Given the description of an element on the screen output the (x, y) to click on. 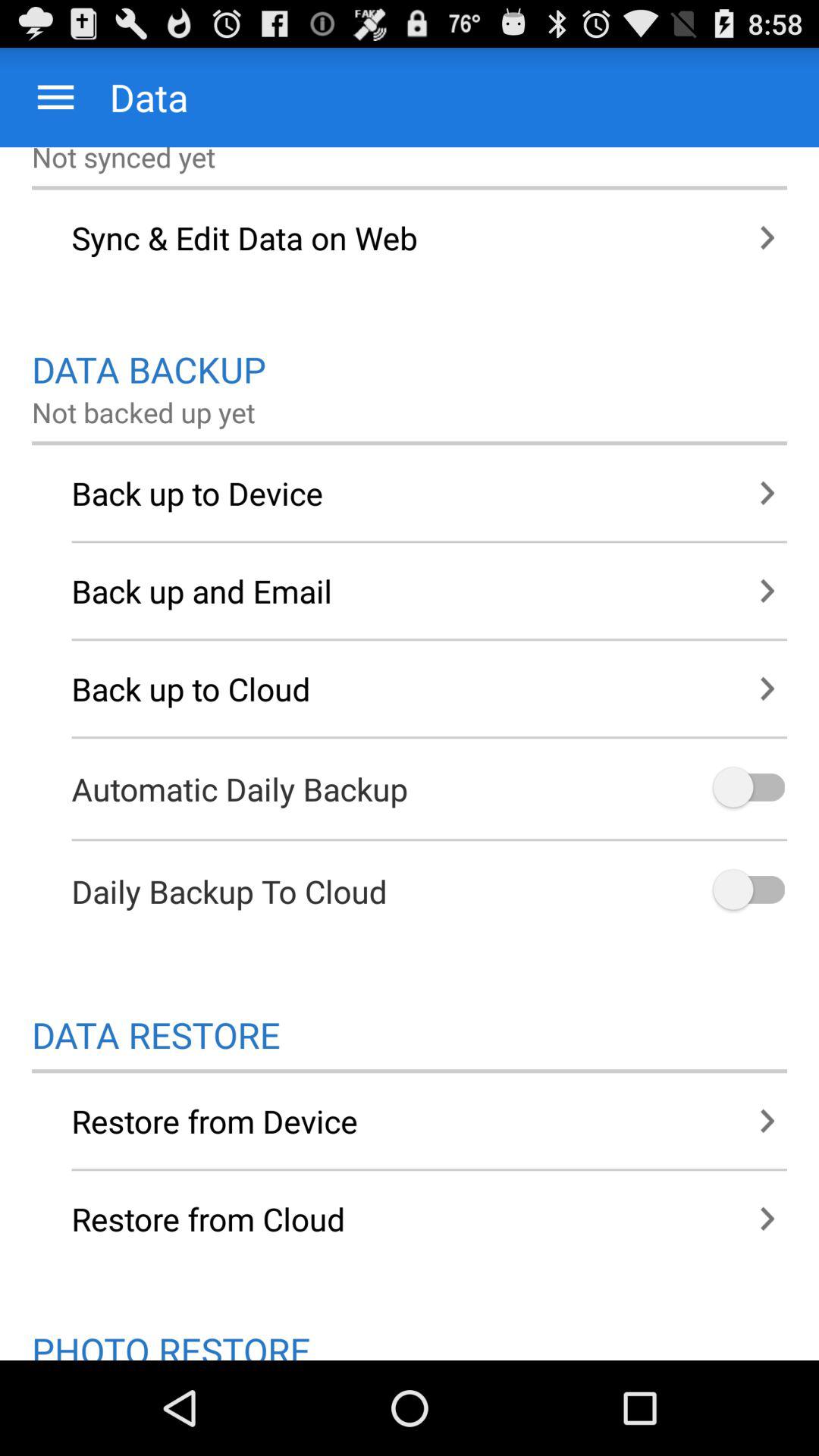
turn on backup (747, 891)
